Given the description of an element on the screen output the (x, y) to click on. 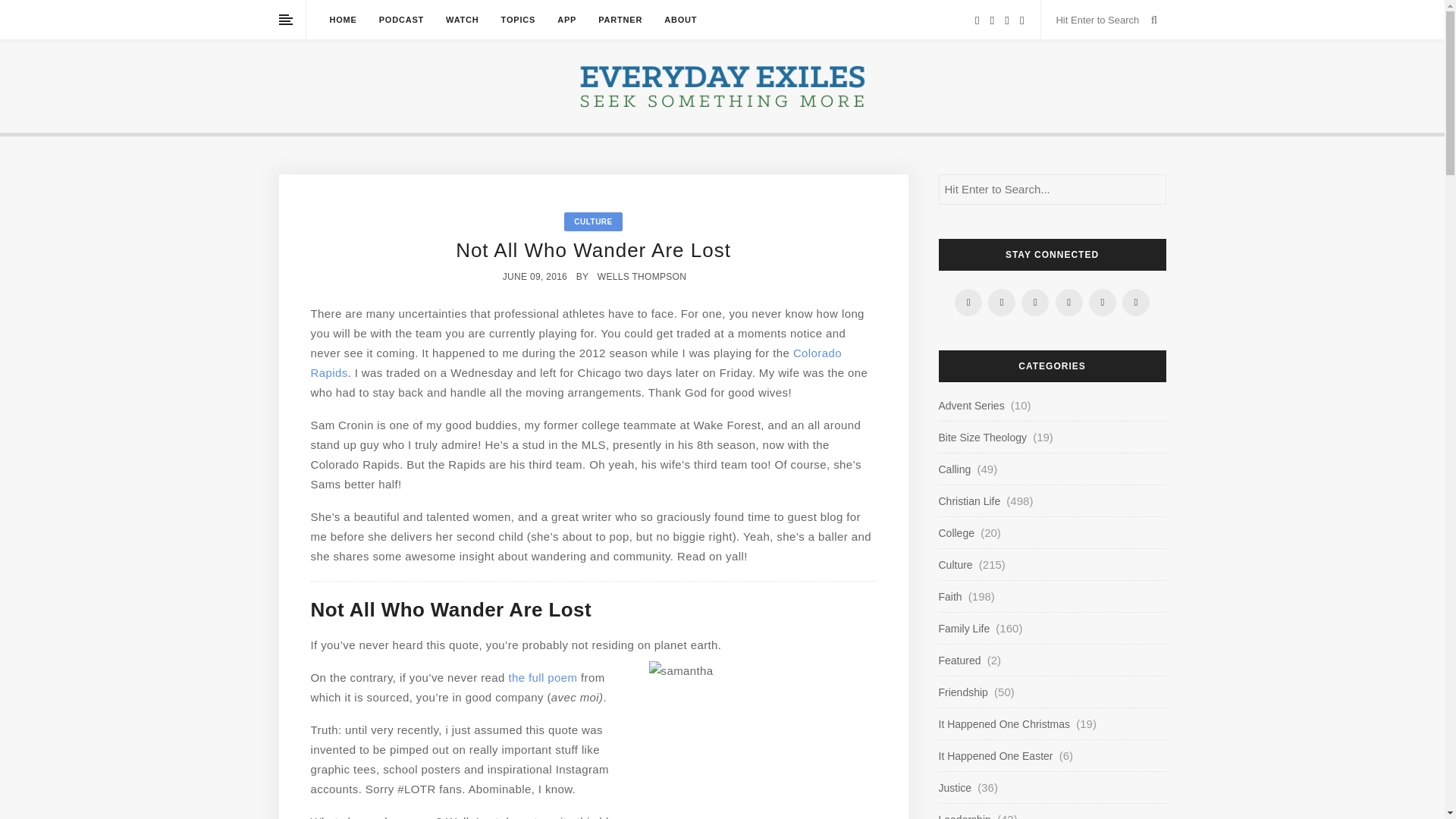
APP (566, 19)
Hit Enter to Search (1099, 20)
Hit Enter to Search (1099, 20)
WATCH (462, 19)
HOME (342, 19)
PODCAST (400, 19)
TOPICS (517, 19)
PARTNER (620, 19)
